Given the description of an element on the screen output the (x, y) to click on. 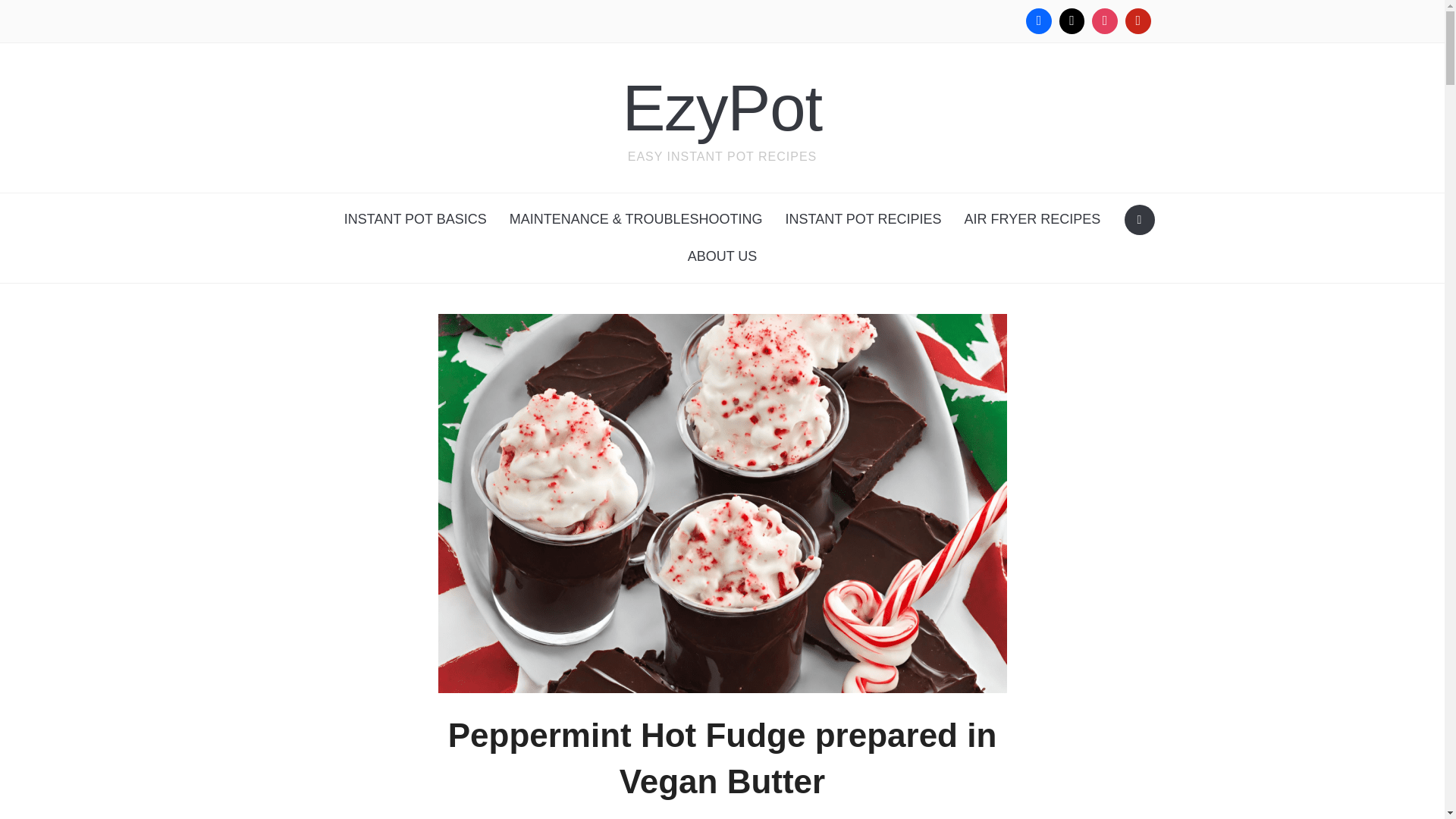
Facebook (1038, 20)
Search (1139, 219)
INSTANT POT BASICS (415, 219)
Pinterest (1137, 20)
ABOUT US (722, 256)
AIR FRYER RECIPES (1032, 219)
X (1072, 20)
Easy Instant Pot Recipes (722, 108)
EzyPot (722, 108)
INSTANT POT RECIPIES (862, 219)
Instagram (1104, 20)
